Given the description of an element on the screen output the (x, y) to click on. 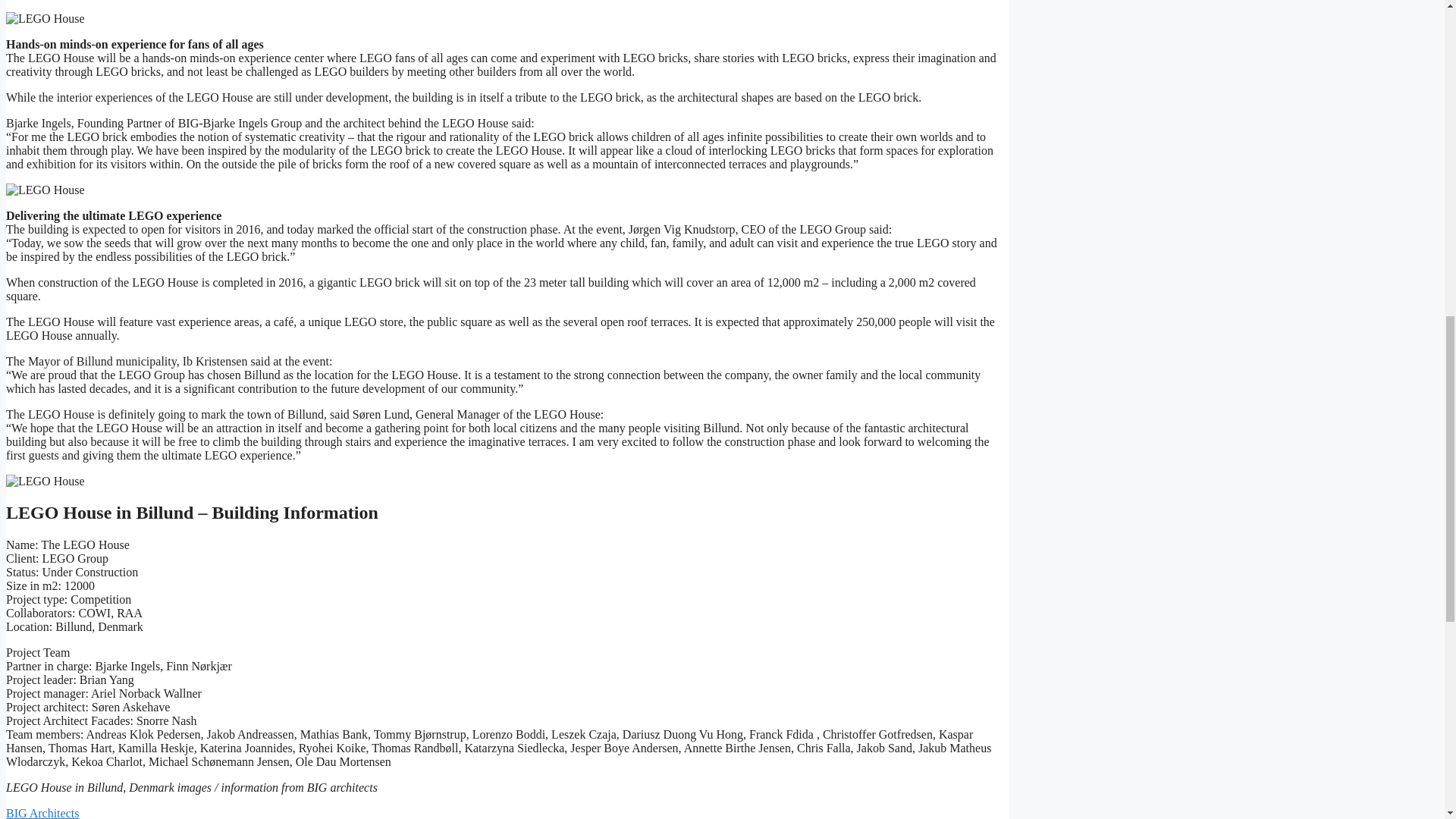
Scroll back to top (1406, 720)
BIG Architects (41, 812)
